Given the description of an element on the screen output the (x, y) to click on. 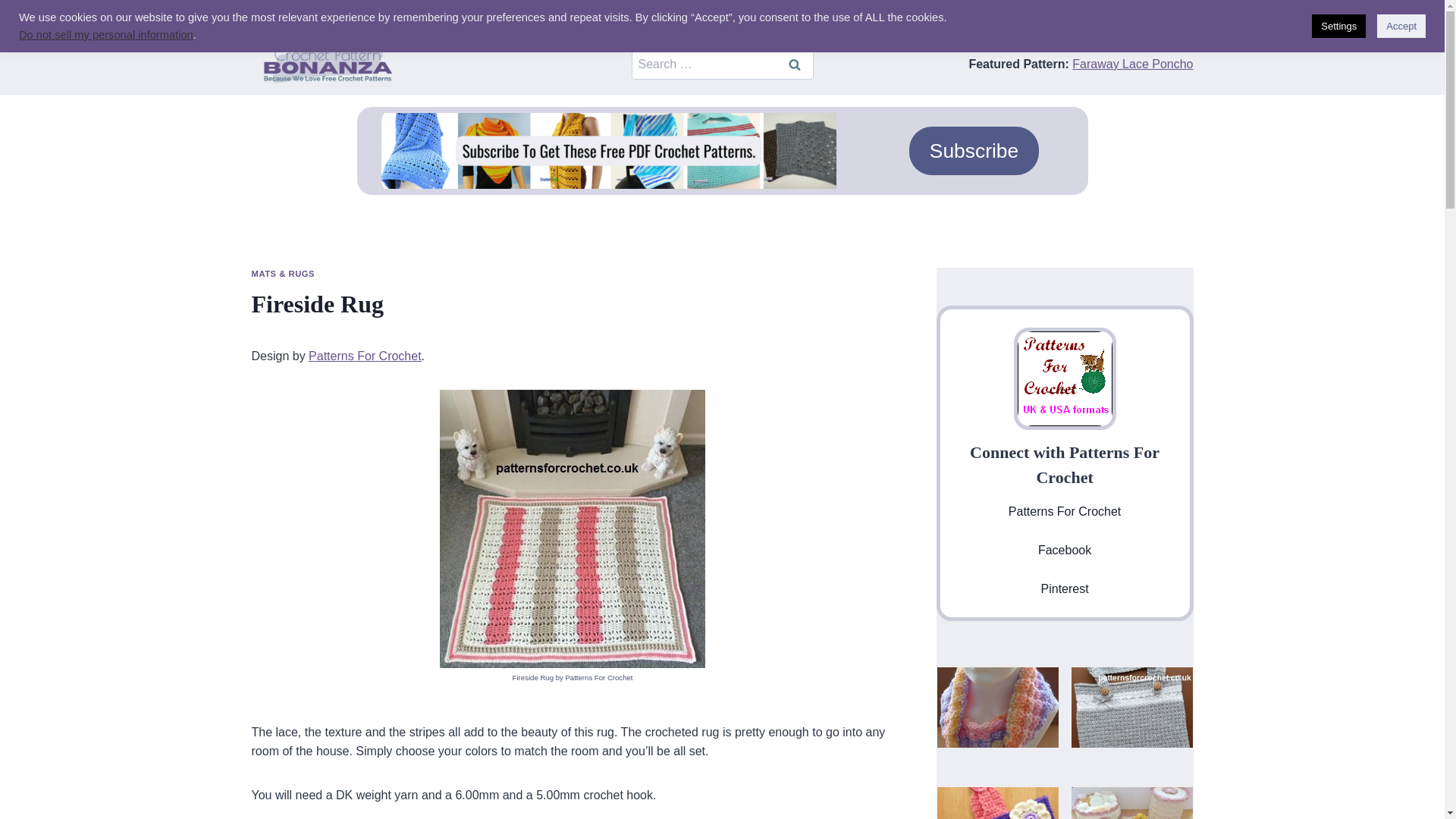
Search (793, 64)
Search (793, 64)
Accessories (297, 17)
Patterns For Crochet (365, 355)
